Given the description of an element on the screen output the (x, y) to click on. 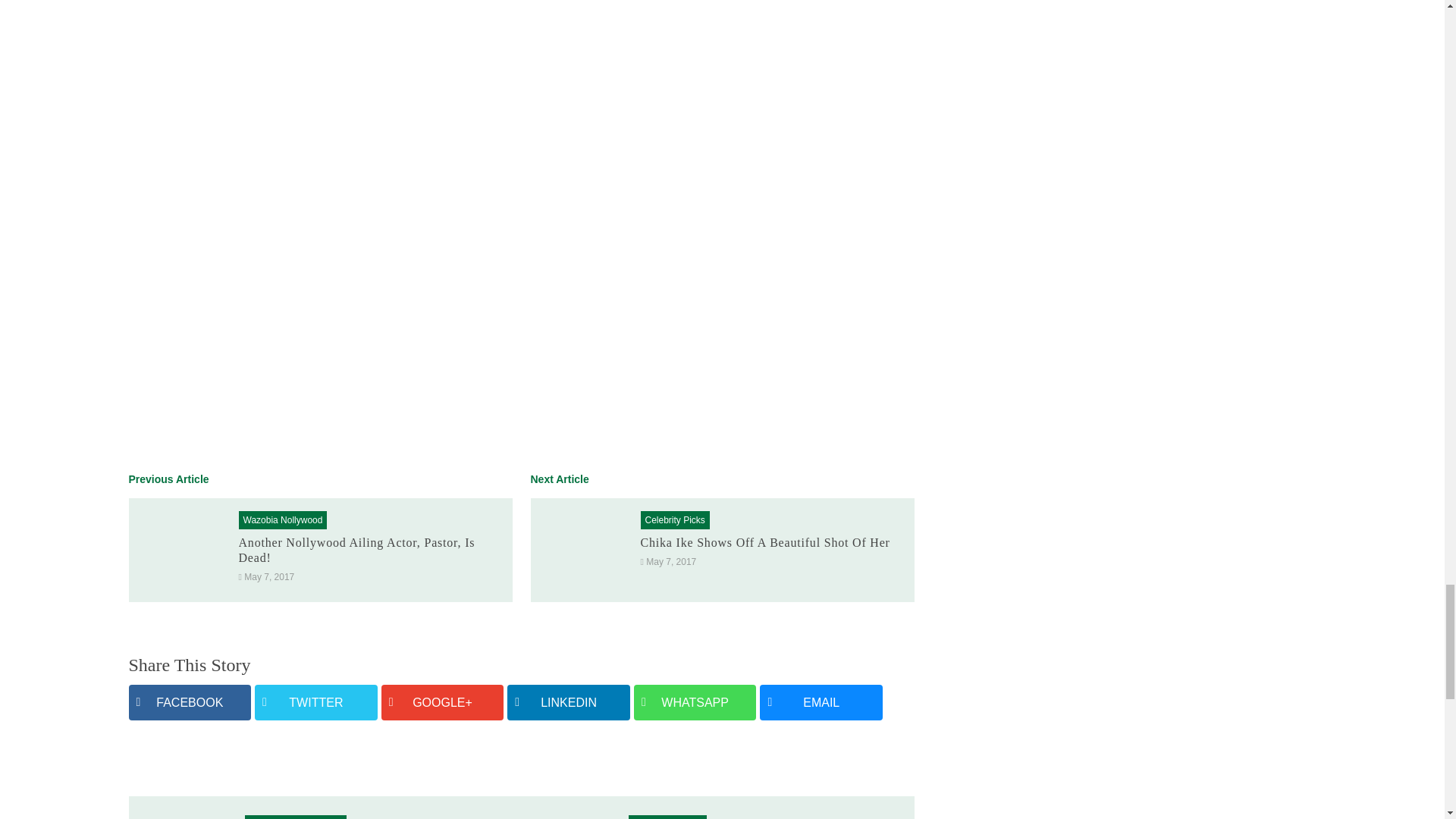
Chika Ike Shows Off A Beautiful Shot Of Her (764, 542)
wazobia nollywood (282, 520)
FACEBOOK (190, 702)
Another Nollywood Ailing Actor, Pastor, Is Dead! (356, 550)
TWITTER (315, 702)
facebook (190, 702)
Chika Ike Shows Off A Beautiful Shot Of Her (764, 542)
Wazobia Nollywood (282, 520)
twitter (315, 702)
Chika Ike Shows Off A Beautiful Shot Of Her (583, 549)
